Given the description of an element on the screen output the (x, y) to click on. 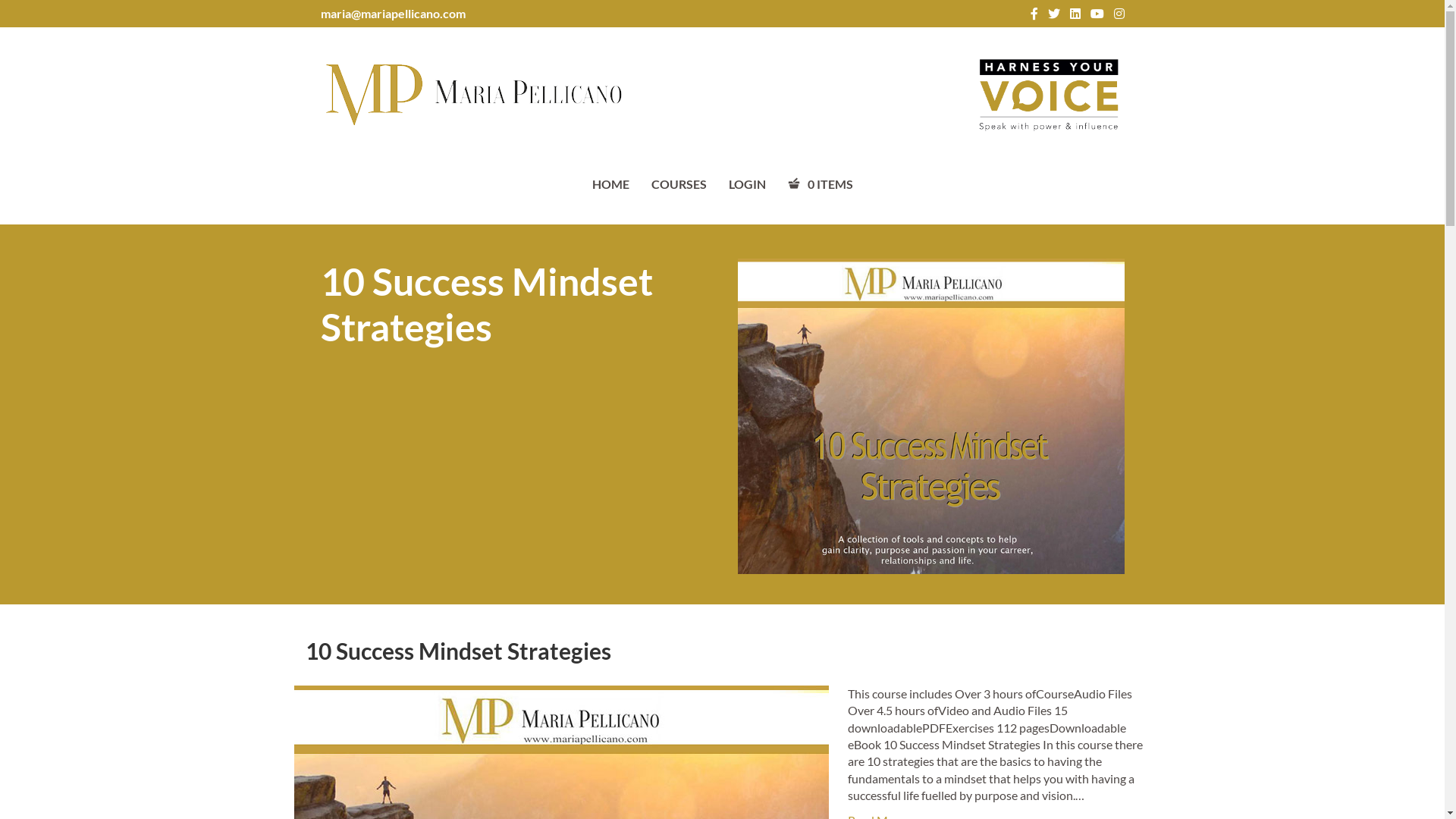
10 Success Mindset Strategies Element type: text (457, 650)
Maria-Pellicano-Logo-Transparent Element type: hover (471, 94)
0 ITEMS Element type: text (819, 183)
HOME Element type: text (609, 183)
Harness-Your-Voice Element type: hover (1047, 94)
COURSES Element type: text (678, 183)
LOGIN Element type: text (746, 183)
Maria-Pellicano-10-Success-Mindset-Strategies-Course Element type: hover (930, 416)
maria@mariapellicano.com Element type: text (392, 13)
